Given the description of an element on the screen output the (x, y) to click on. 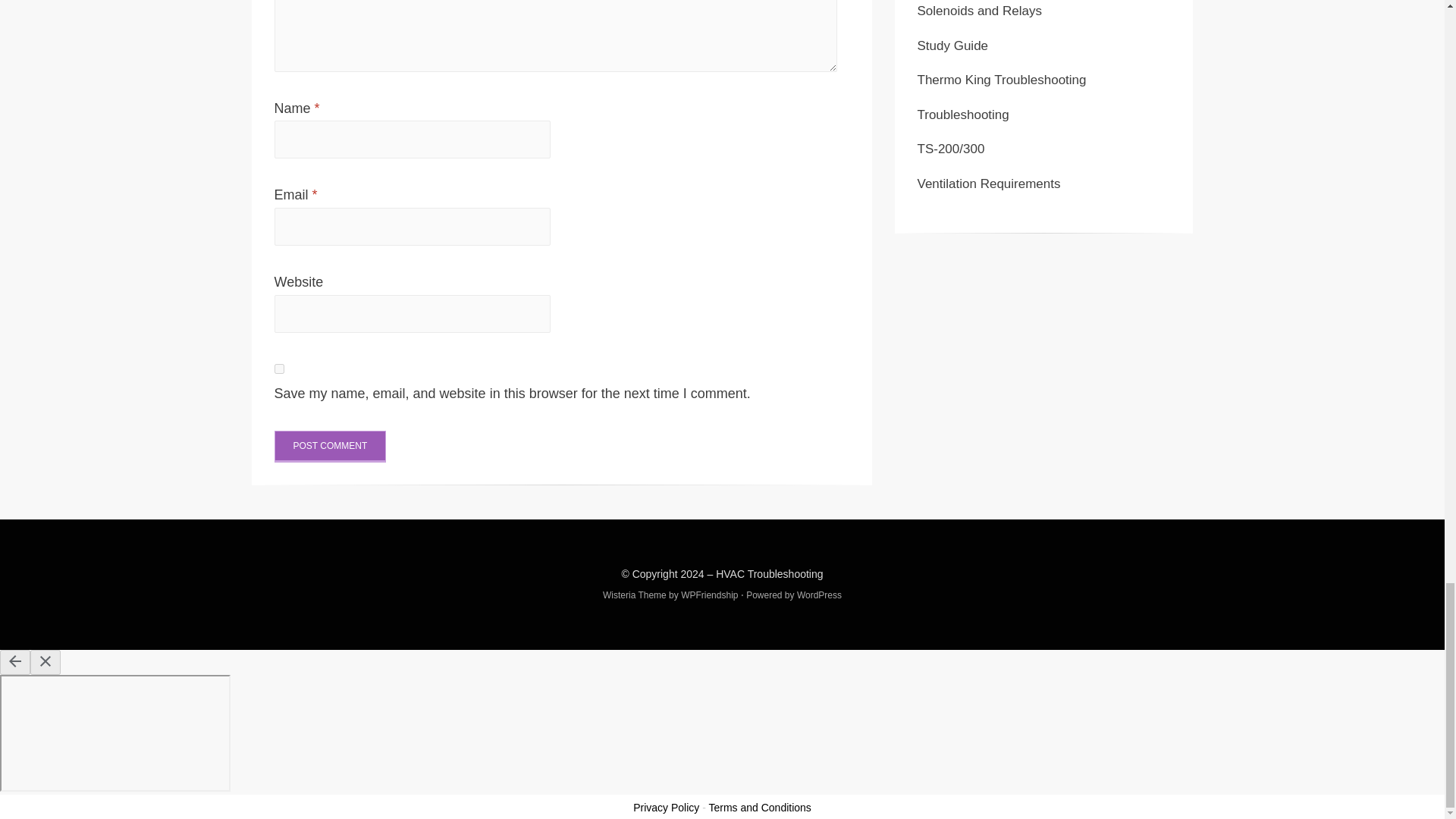
WordPress (818, 594)
Post Comment (331, 446)
yes (279, 368)
WPFriendship (709, 594)
Post Comment (331, 446)
